Given the description of an element on the screen output the (x, y) to click on. 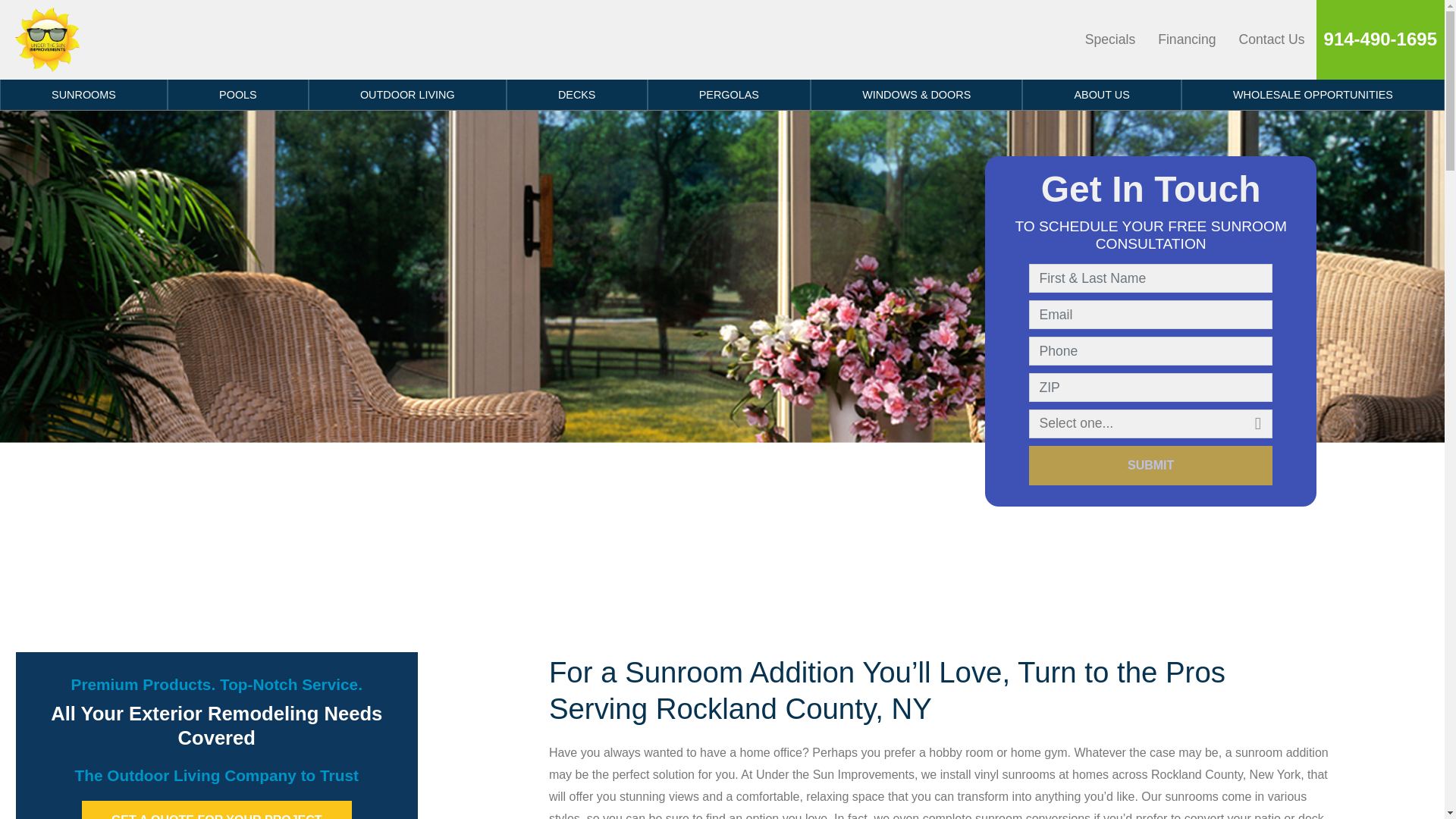
SUNROOMS (83, 94)
POOLS (237, 94)
OUTDOOR LIVING (407, 94)
ABOUT US (1101, 94)
Contact Us (1271, 40)
SUBMIT (1150, 465)
PERGOLAS (728, 94)
Financing (1187, 40)
Under the Sun Improvements (47, 39)
Specials (1110, 40)
